Given the description of an element on the screen output the (x, y) to click on. 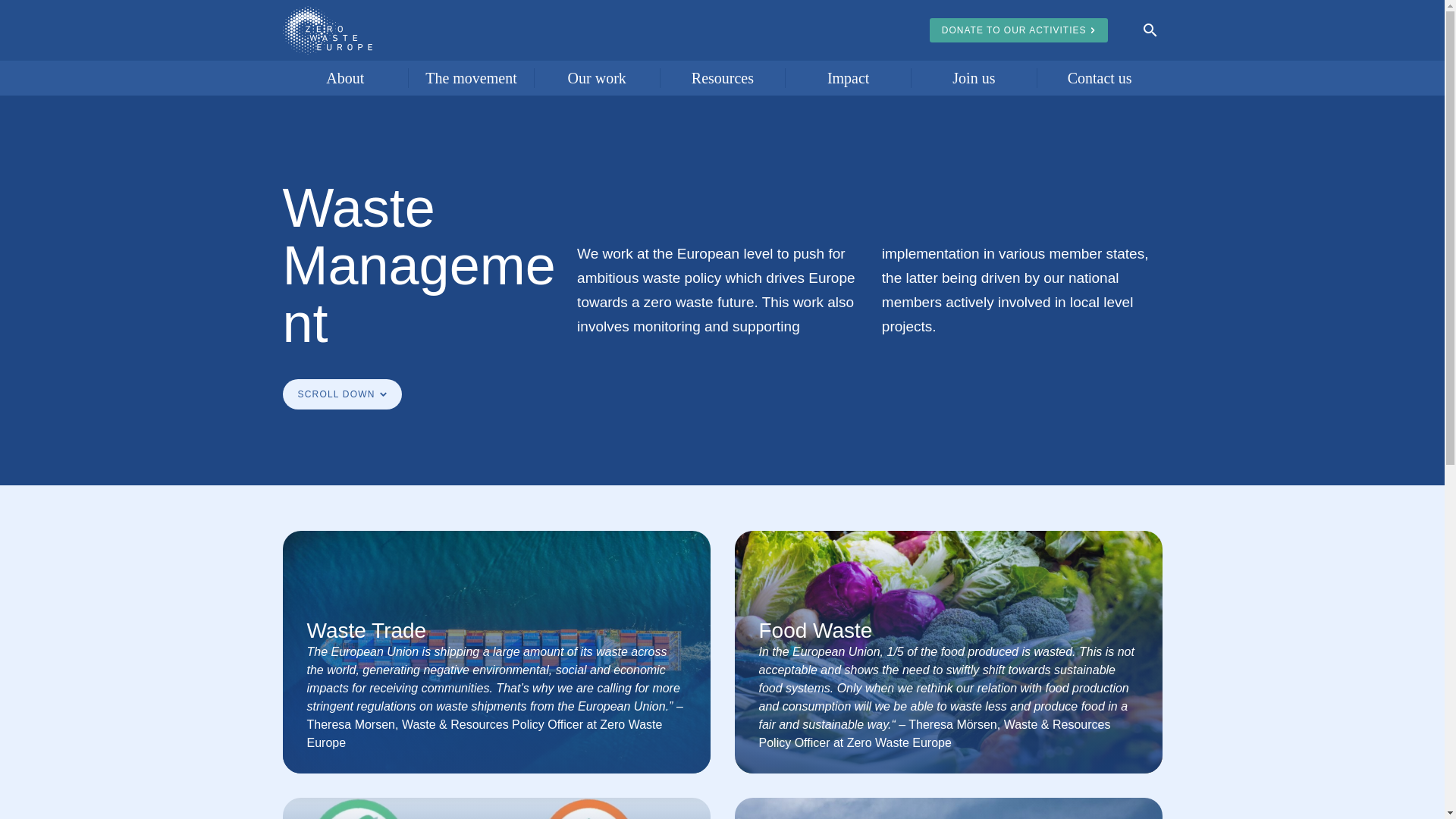
Resources (723, 77)
The movement (471, 77)
Contact us (1098, 77)
Impact (848, 77)
Zero Waste Europe (326, 29)
Our work (596, 77)
Join us (973, 77)
DONATE TO OUR ACTIVITIES (1019, 30)
About (344, 77)
